Given the description of an element on the screen output the (x, y) to click on. 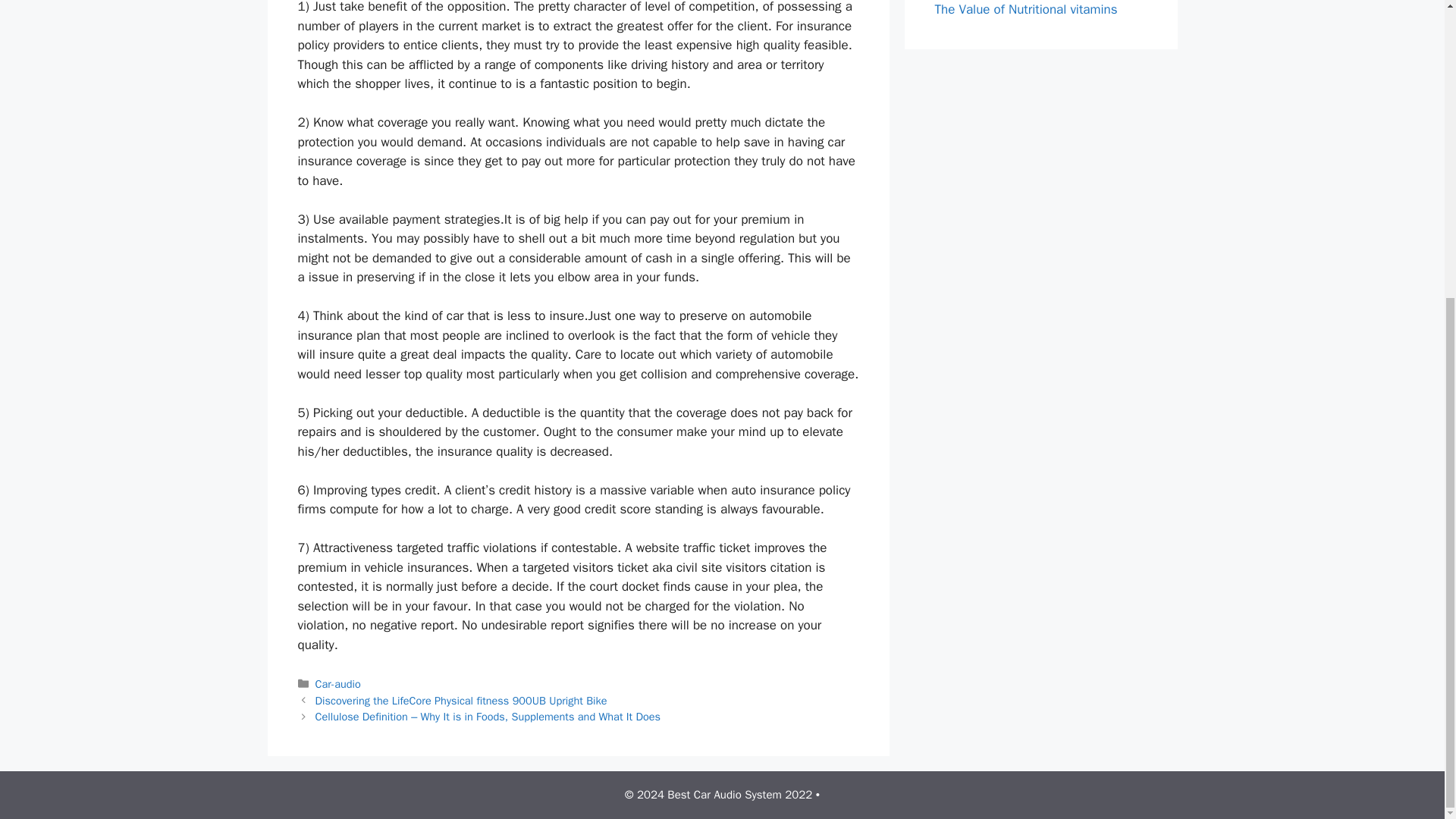
The Value of Nutritional vitamins (1025, 9)
Discovering the LifeCore Physical fitness 900UB Upright Bike (461, 700)
Car-audio (338, 684)
